Given the description of an element on the screen output the (x, y) to click on. 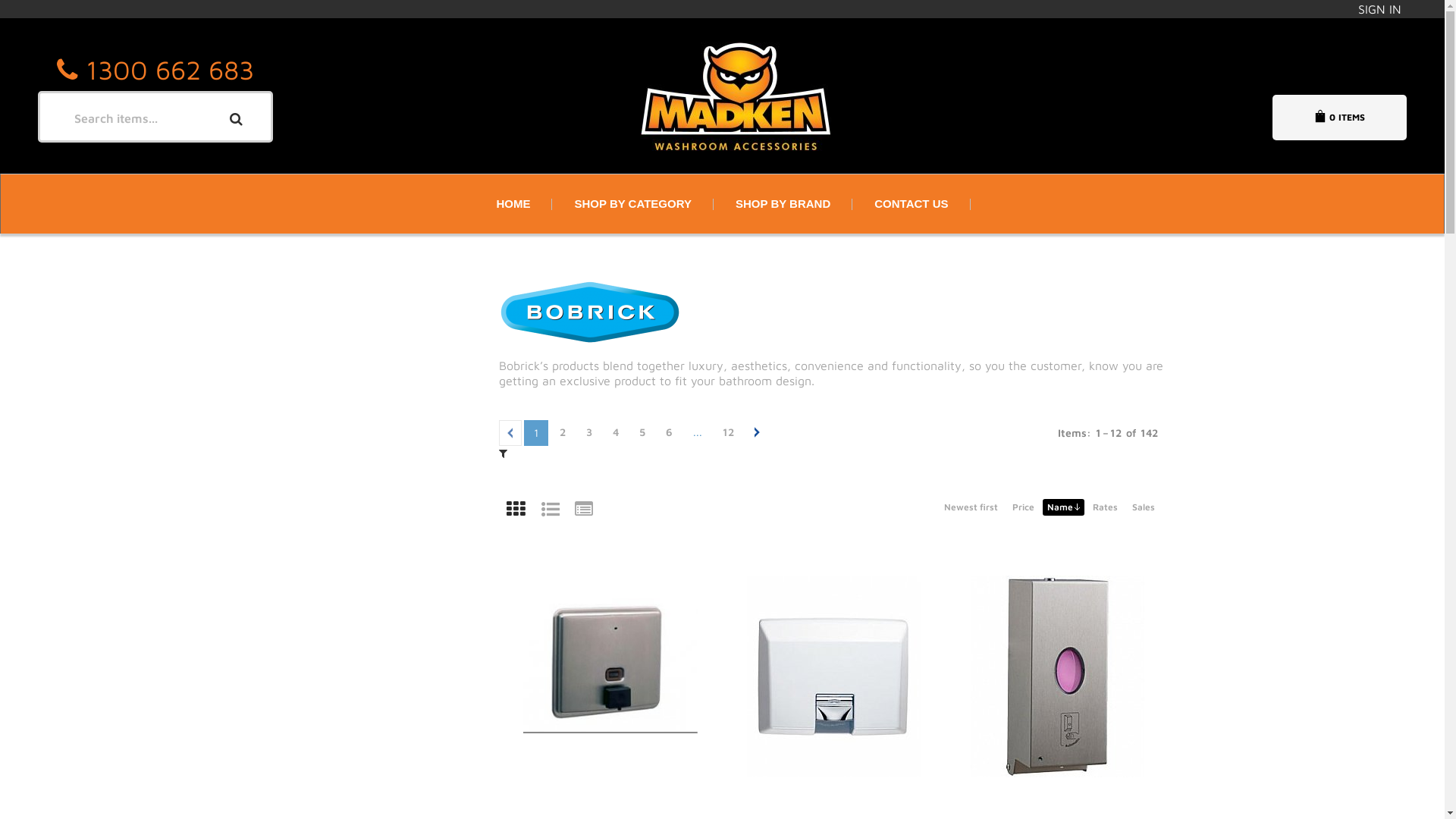
2 Element type: text (562, 432)
Grid Element type: hover (515, 508)
5 Element type: text (641, 432)
Price Element type: text (1022, 506)
Search Element type: text (232, 115)
SIGN IN Element type: text (1378, 8)
SHOP BY BRAND Element type: text (782, 203)
Table Element type: hover (583, 508)
HOME Element type: text (512, 203)
List Element type: hover (550, 508)
SHOP BY CATEGORY Element type: text (632, 203)
Bobrick Element type: hover (834, 313)
Next page Element type: hover (754, 432)
Name Element type: text (1062, 506)
Previous page Element type: hover (509, 432)
CONTACT US Element type: text (910, 203)
1300 662 683 Element type: text (169, 68)
  Element type: text (754, 432)
Rates Element type: text (1104, 506)
12 Element type: text (727, 432)
3 Element type: text (588, 432)
Sales Element type: text (1142, 506)
4 Element type: text (615, 432)
Newest first Element type: text (970, 506)
6 Element type: text (668, 432)
Home Element type: hover (811, 95)
